Given the description of an element on the screen output the (x, y) to click on. 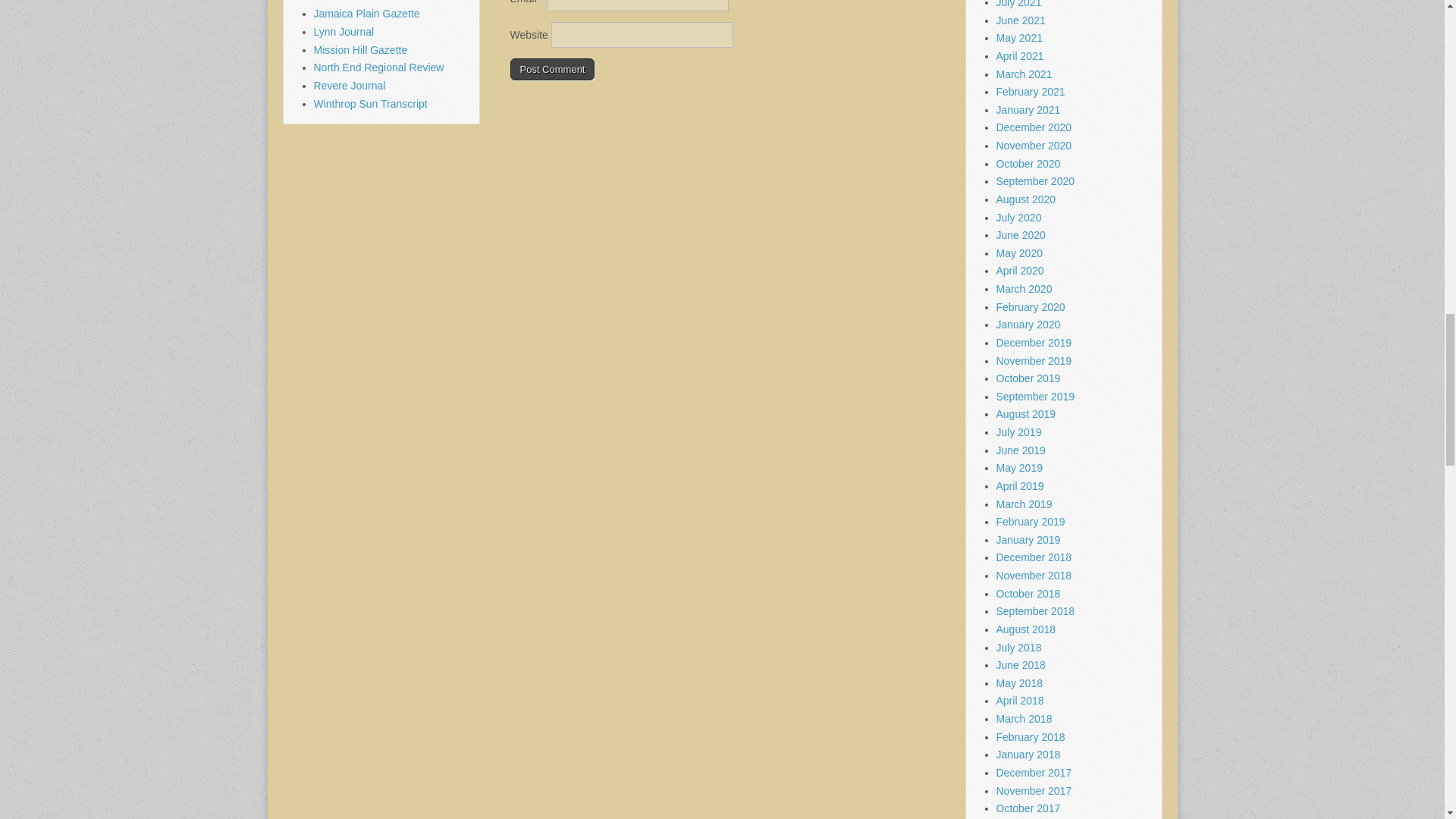
Jamaica Plain Gazette (367, 13)
Lynn Journal (344, 31)
East Boston Times Free Press (385, 1)
Post Comment (551, 69)
Post Comment (551, 69)
